Given the description of an element on the screen output the (x, y) to click on. 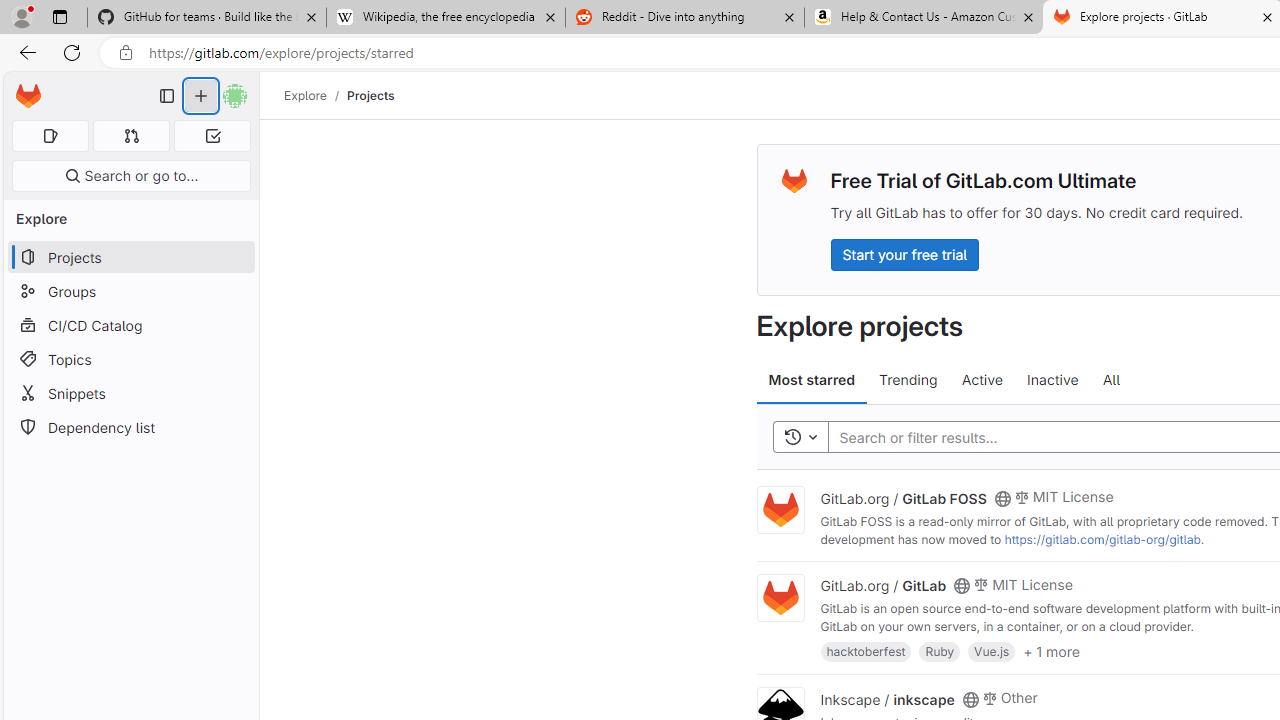
CI/CD Catalog (130, 325)
Explore/ (316, 95)
Ruby (940, 650)
hacktoberfest (866, 650)
Merge requests 0 (131, 136)
Primary navigation sidebar (167, 96)
Dependency list (130, 427)
GitLab.org / GitLab FOSS (903, 497)
To-Do list 0 (212, 136)
Class: project (780, 597)
Inkscape / inkscape (887, 698)
